Given the description of an element on the screen output the (x, y) to click on. 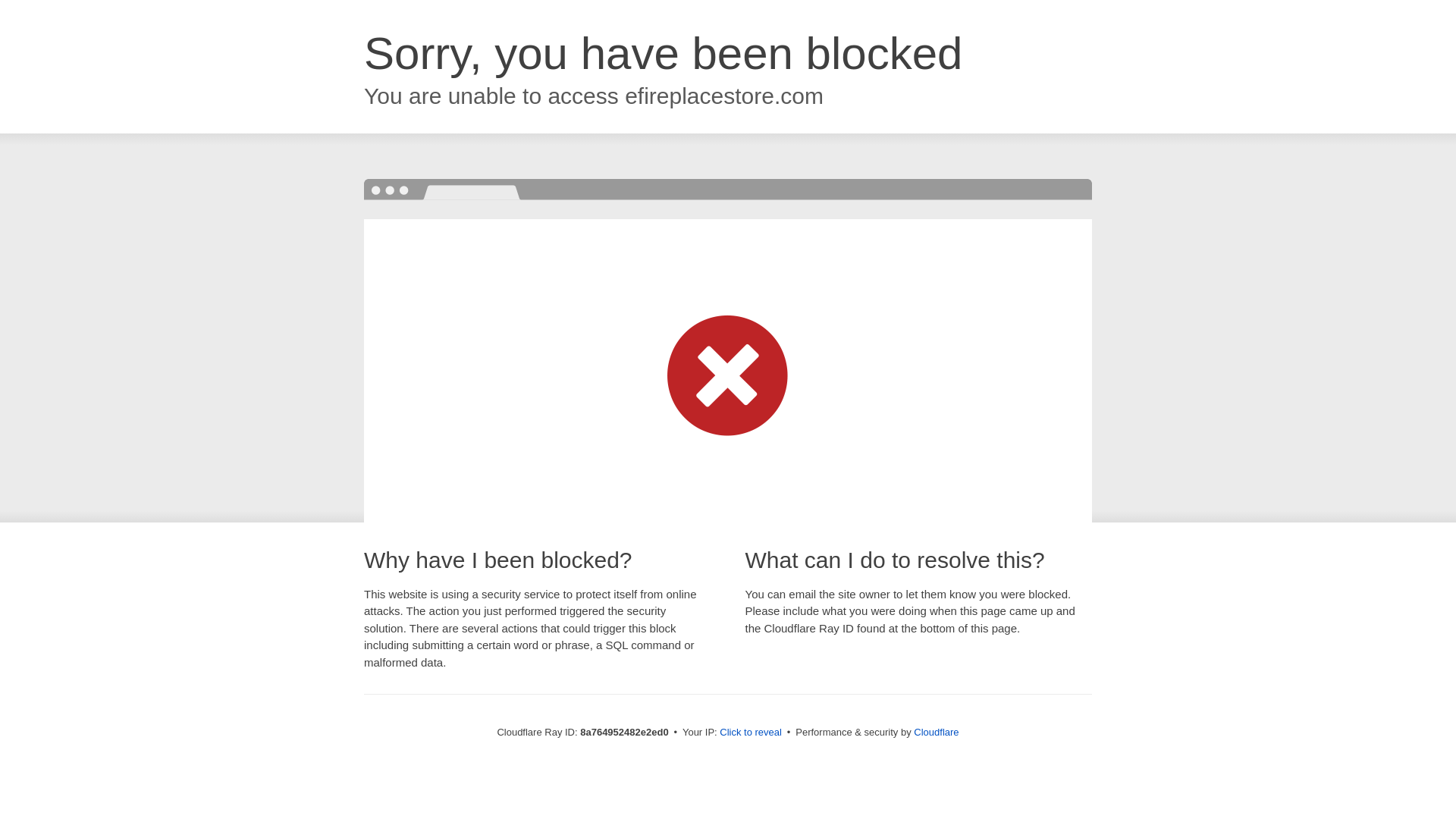
Cloudflare (936, 731)
Click to reveal (750, 732)
